Given the description of an element on the screen output the (x, y) to click on. 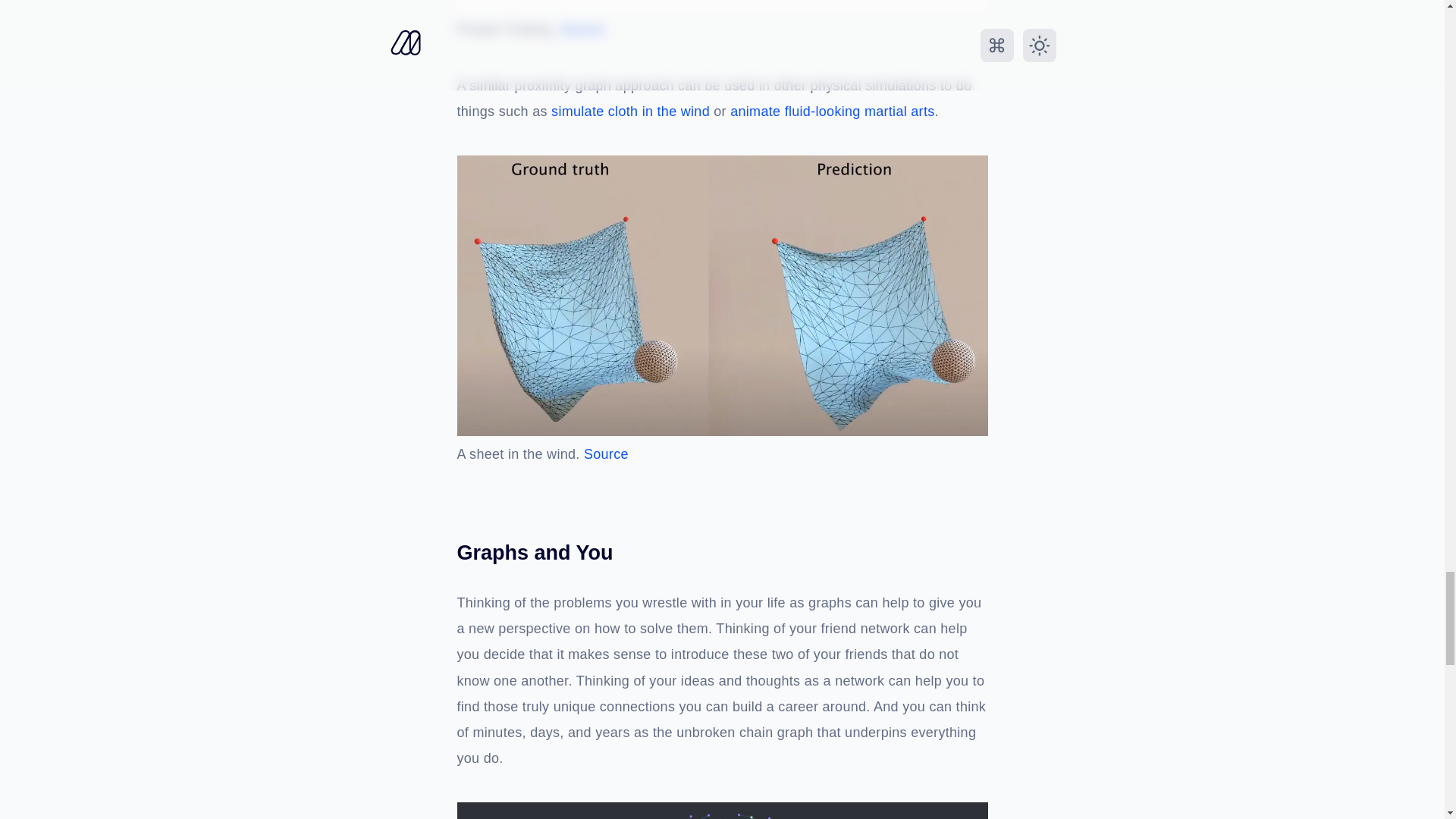
Source (582, 29)
simulate cloth in the wind (632, 112)
Source (605, 454)
animate fluid-looking martial arts (832, 112)
